Given the description of an element on the screen output the (x, y) to click on. 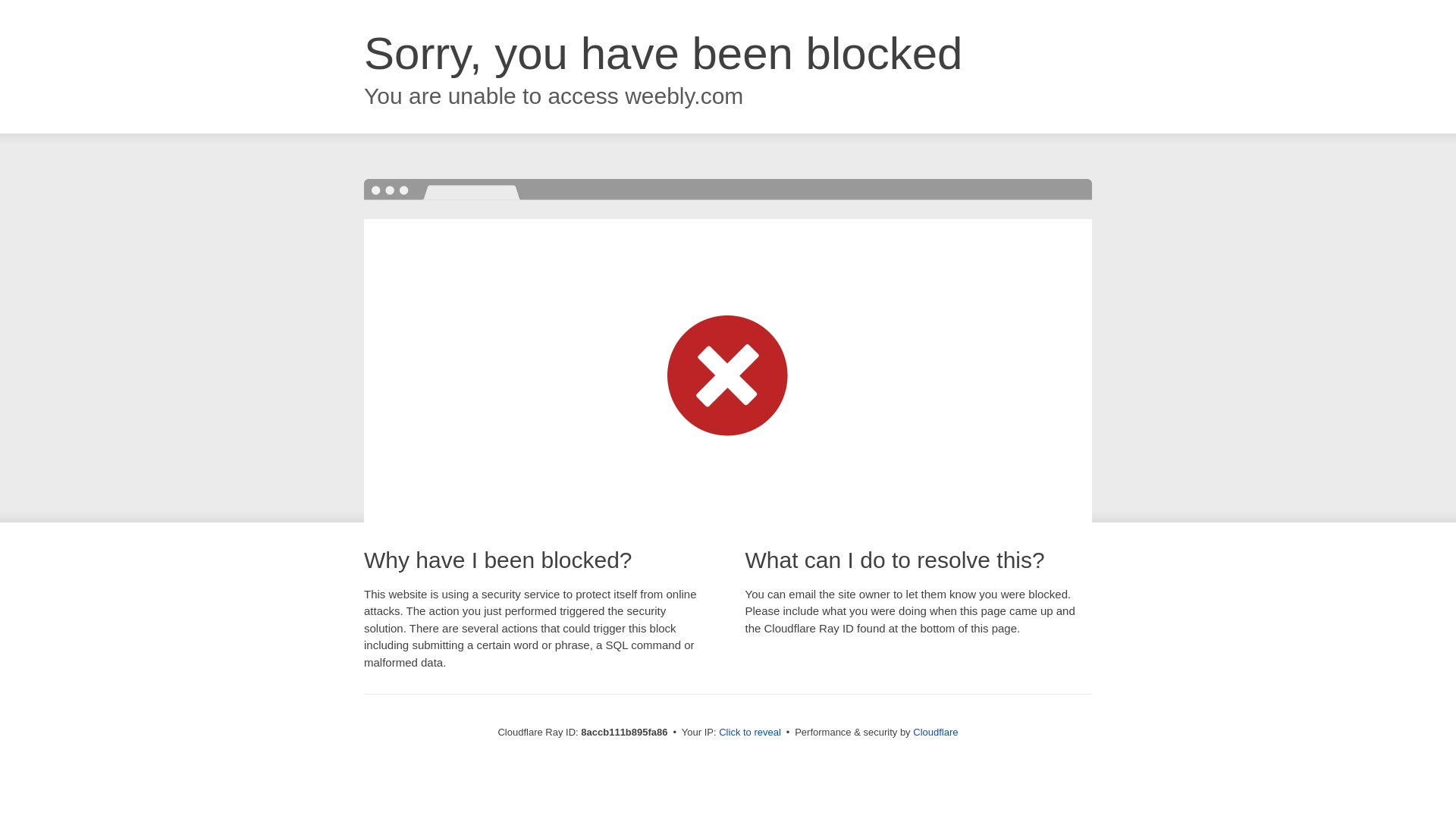
Click to reveal (749, 732)
Cloudflare (935, 731)
